Given the description of an element on the screen output the (x, y) to click on. 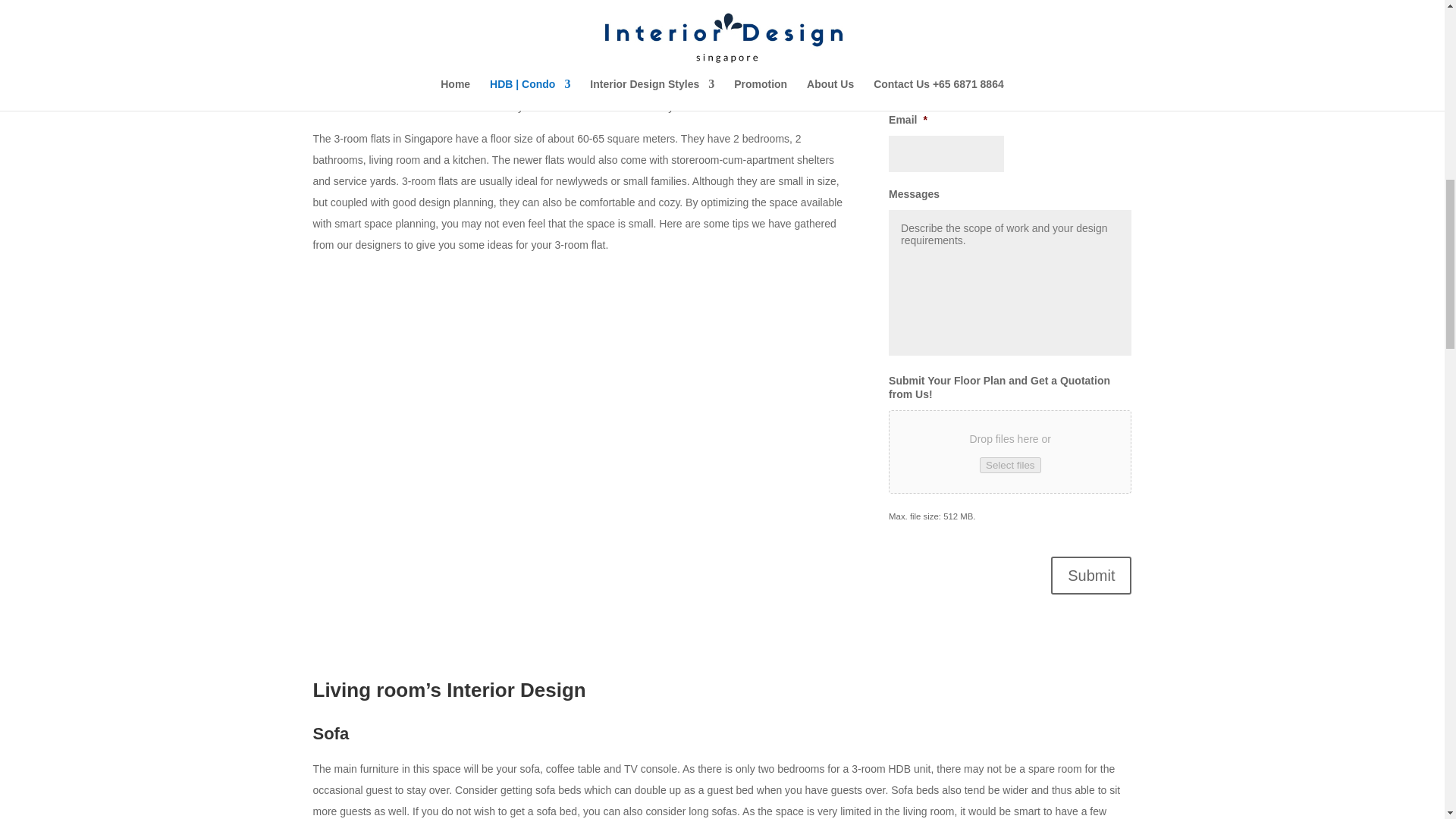
Select files (1010, 465)
Submit (1091, 575)
Submit (1091, 575)
interior design (637, 85)
